Given the description of an element on the screen output the (x, y) to click on. 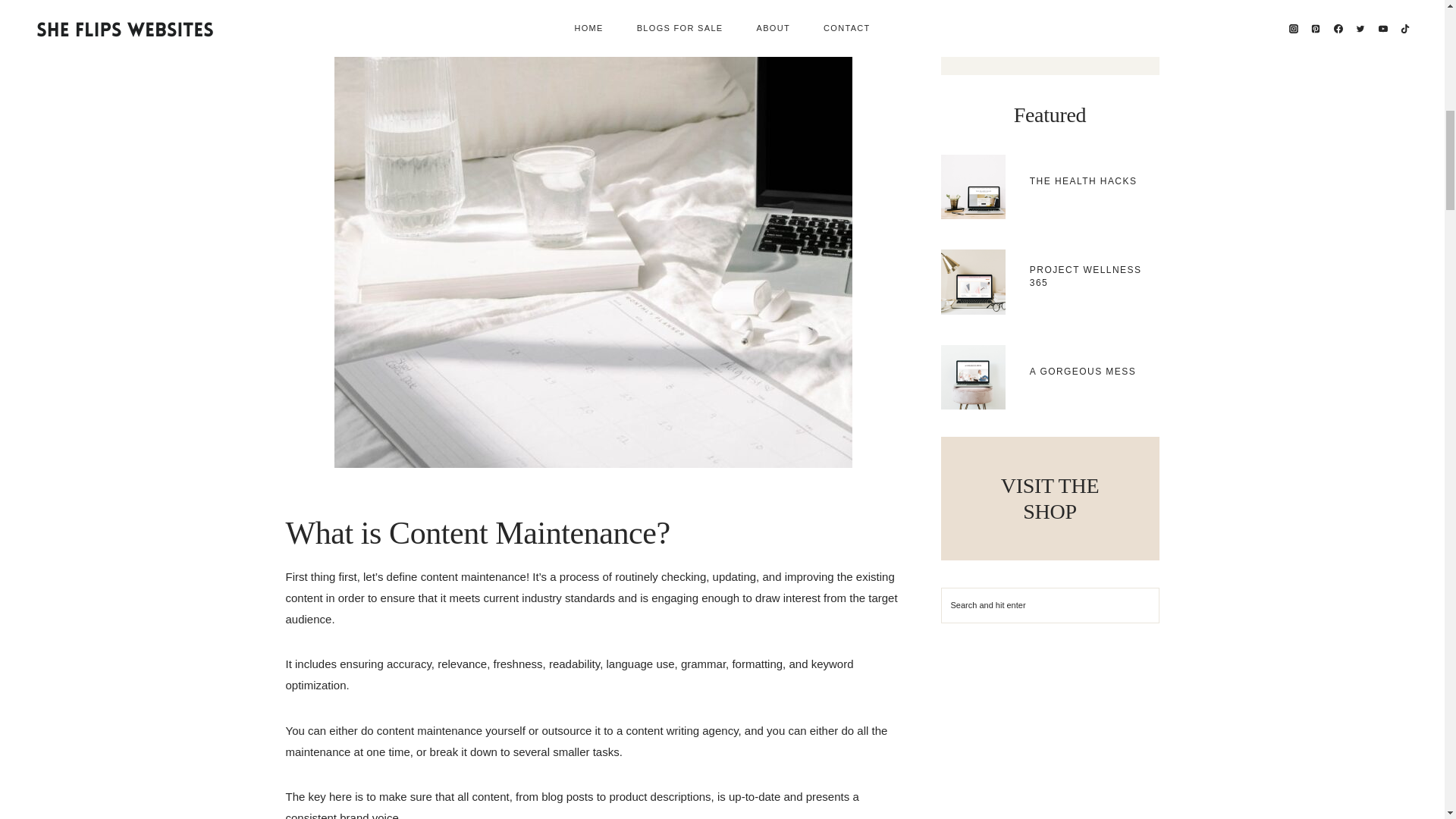
A GORGEOUS MESS (1082, 371)
PROJECT WELLNESS 365 (1085, 276)
VISIT THE SHOP (1050, 498)
THE HEALTH HACKS (1083, 181)
SUBSCRIBE (1050, 29)
